Given the description of an element on the screen output the (x, y) to click on. 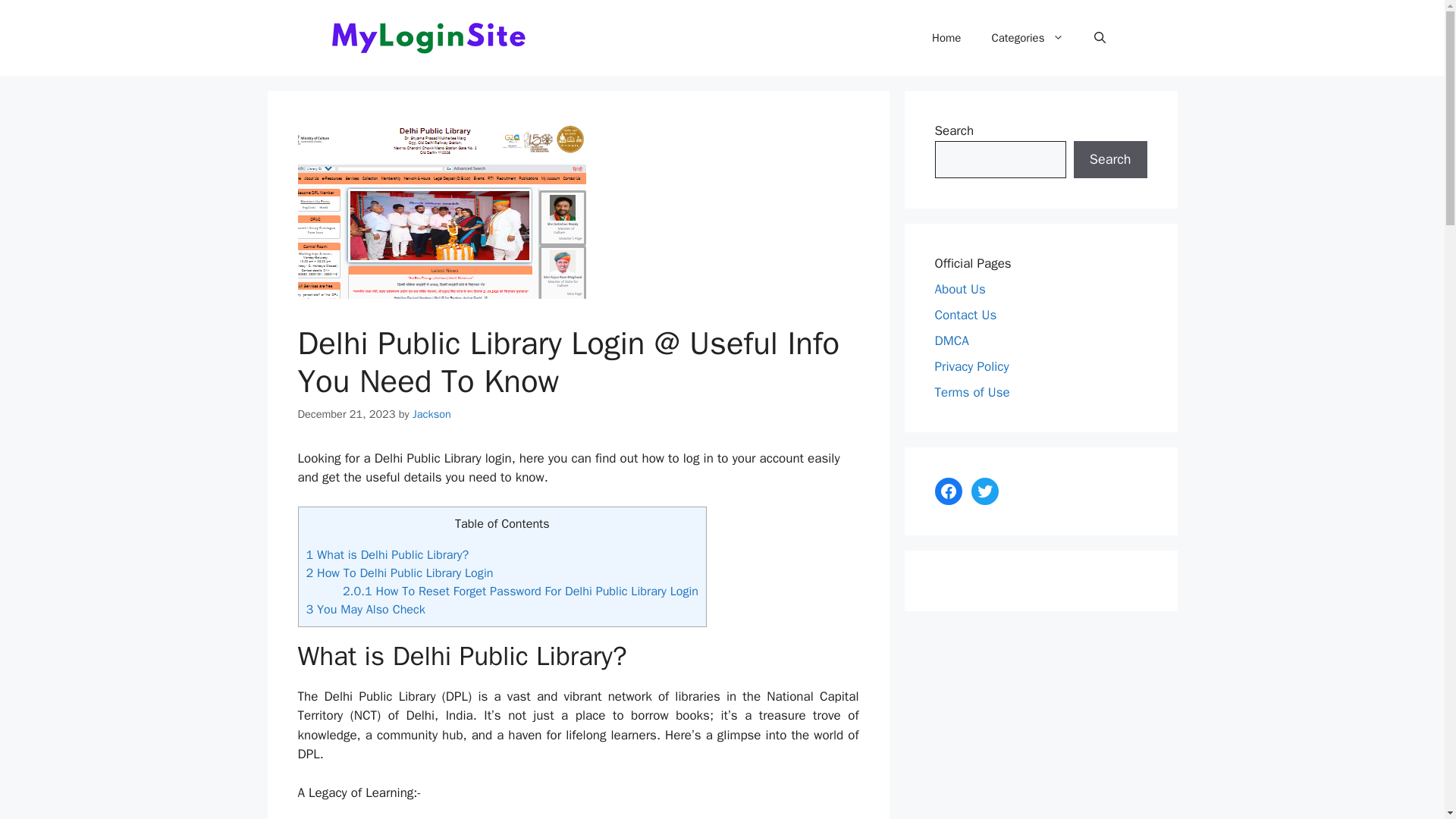
About Us (959, 288)
Home (946, 37)
DMCA (951, 340)
1 What is Delhi Public Library? (386, 554)
2 How To Delhi Public Library Login (399, 572)
Search (1110, 159)
Categories (1026, 37)
View all posts by Jackson (431, 413)
3 You May Also Check (365, 609)
